Given the description of an element on the screen output the (x, y) to click on. 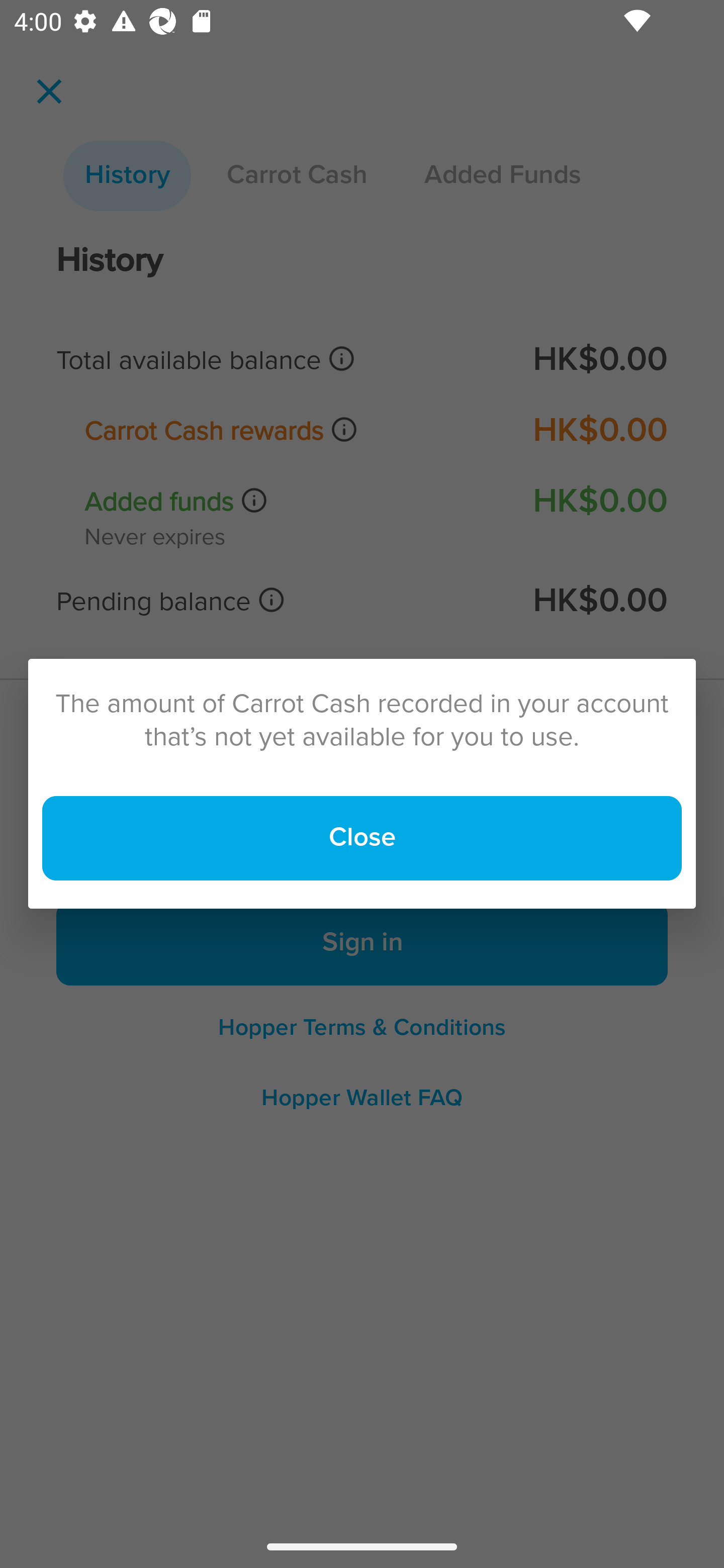
‍Close (361, 838)
